Given the description of an element on the screen output the (x, y) to click on. 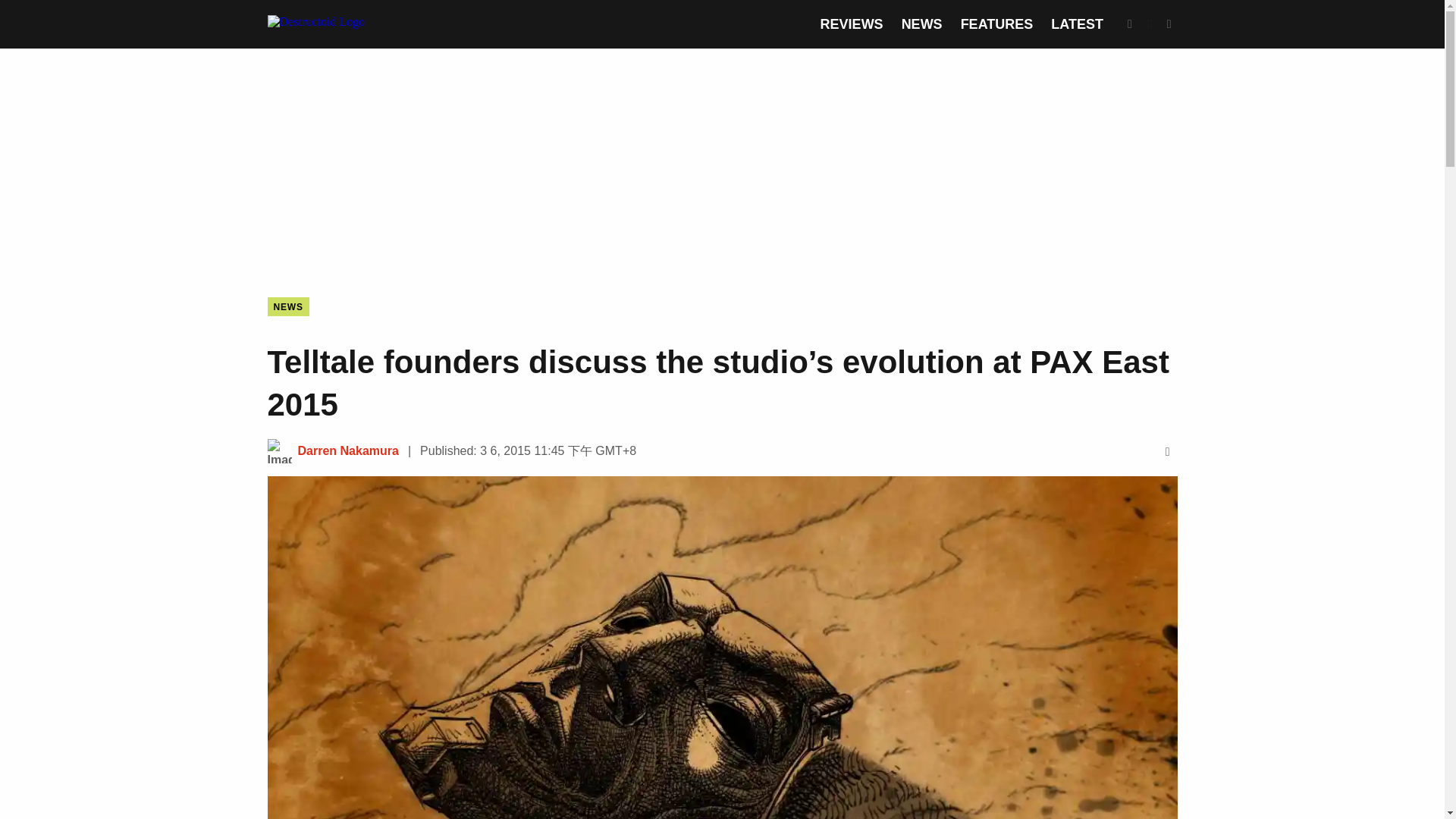
NEWS (921, 23)
Expand Menu (1168, 23)
FEATURES (996, 23)
REVIEWS (852, 23)
LATEST (1077, 23)
NEWS (287, 306)
Search (1129, 23)
Dark Mode (1149, 23)
